Given the description of an element on the screen output the (x, y) to click on. 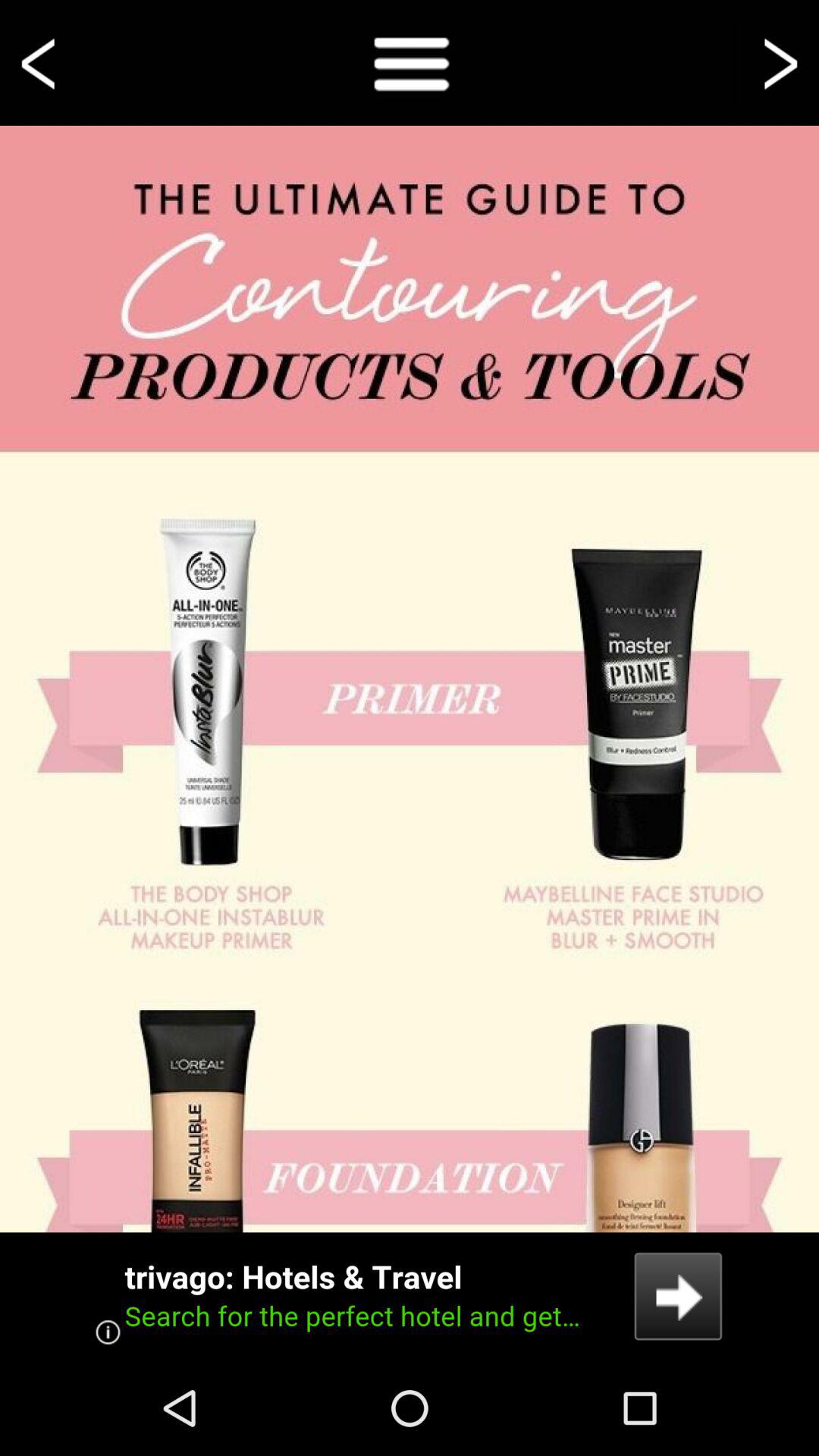
go forward (778, 62)
